Given the description of an element on the screen output the (x, y) to click on. 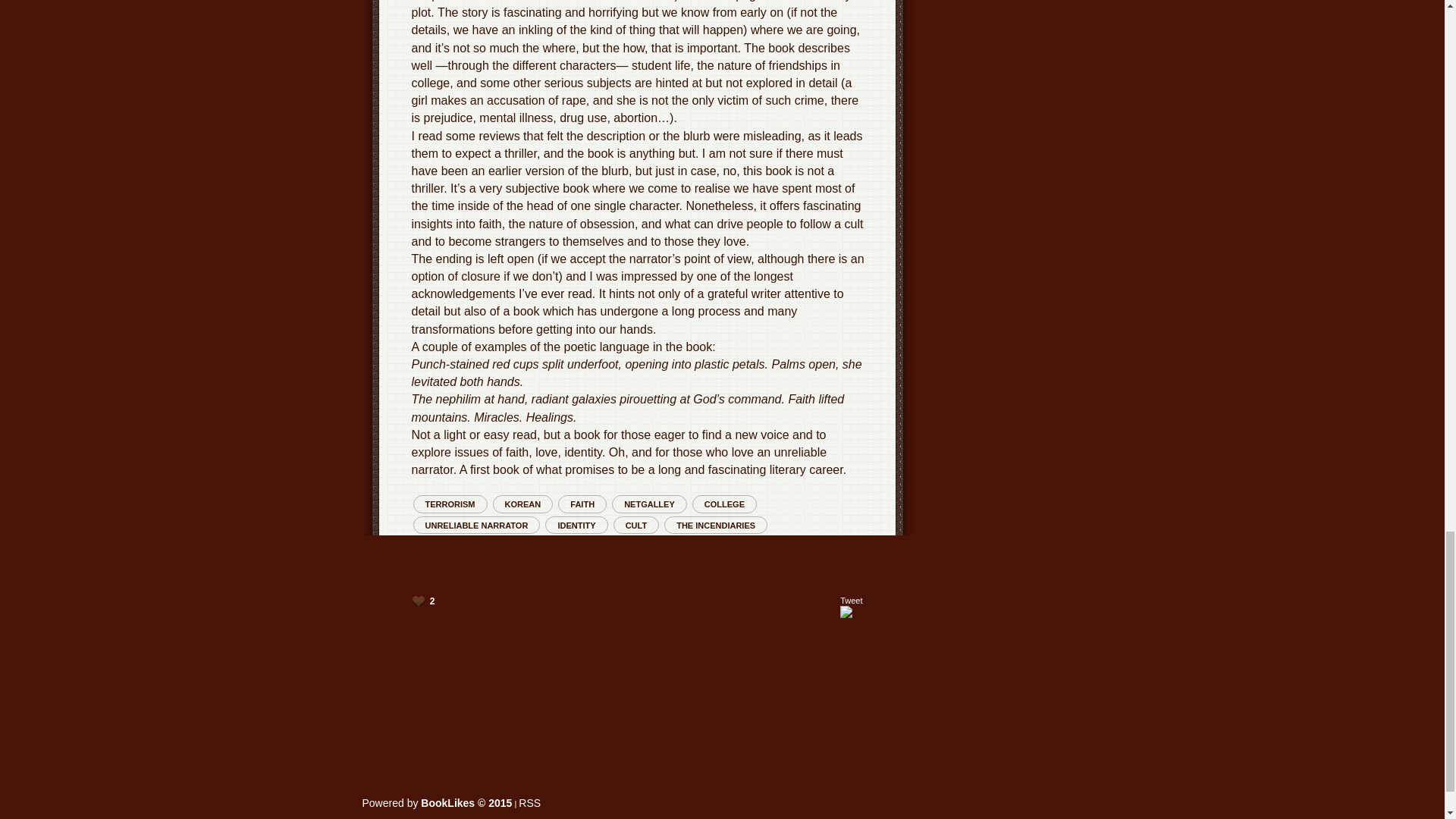
CULT (635, 524)
BookLikes (529, 802)
Tweet (850, 600)
UNRELIABLE NARRATOR (476, 524)
COLLEGE (725, 503)
THE INCENDIARIES (715, 524)
RSS (529, 802)
BookLikes (437, 802)
KOREAN (523, 503)
NETGALLEY (649, 503)
